Given the description of an element on the screen output the (x, y) to click on. 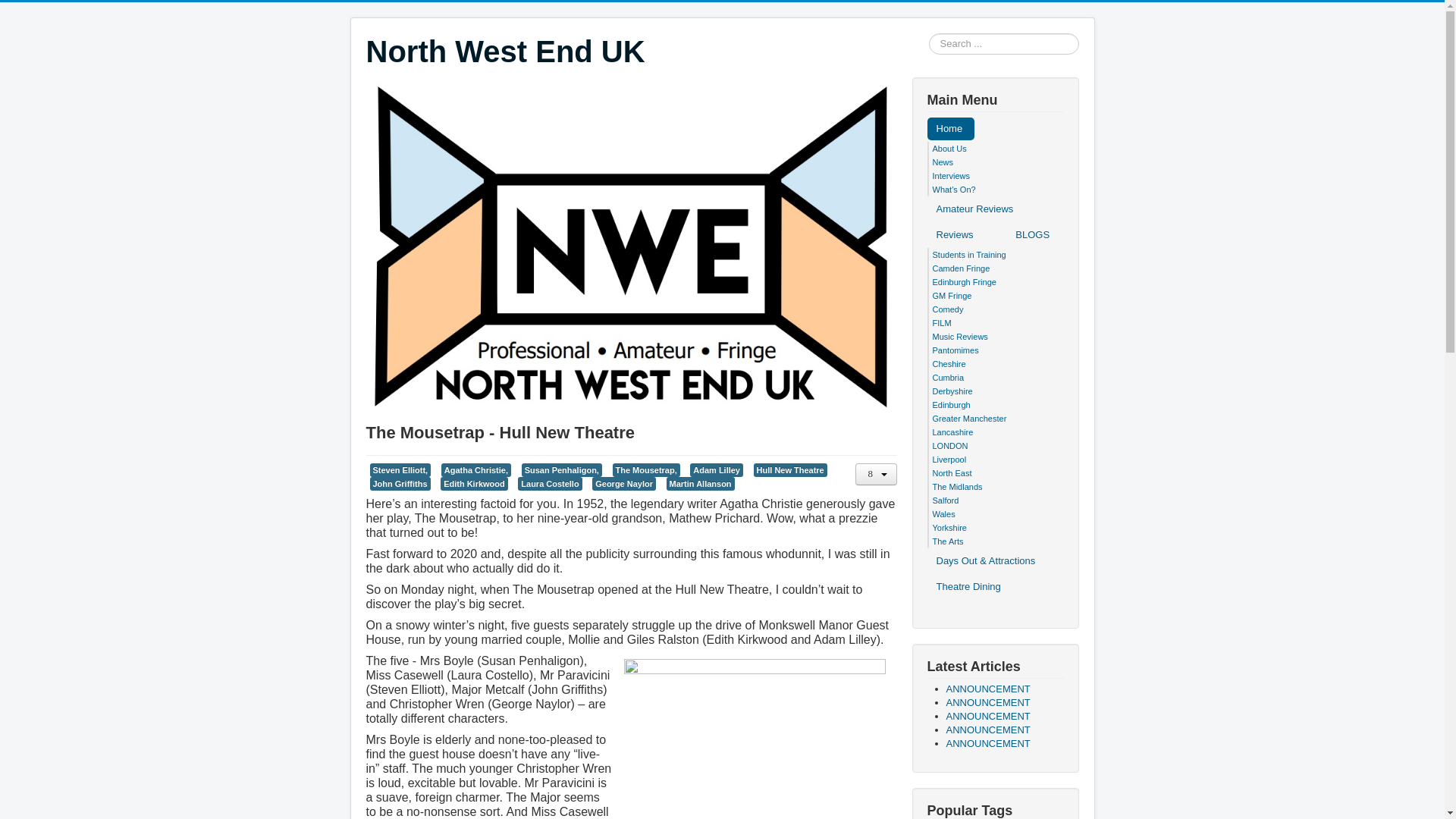
North West End UK (505, 51)
Home (950, 128)
North West End UK (505, 51)
Greater Manchester (970, 418)
What's On? (954, 189)
Music Reviews (960, 336)
Hull New Theatre (790, 469)
Derbyshire (952, 390)
Lancashire (953, 431)
News (943, 162)
Agatha Christie, (476, 469)
Edith Kirkwood (474, 483)
Amateur Reviews (974, 209)
Interviews (952, 175)
Adam Lilley (716, 469)
